Given the description of an element on the screen output the (x, y) to click on. 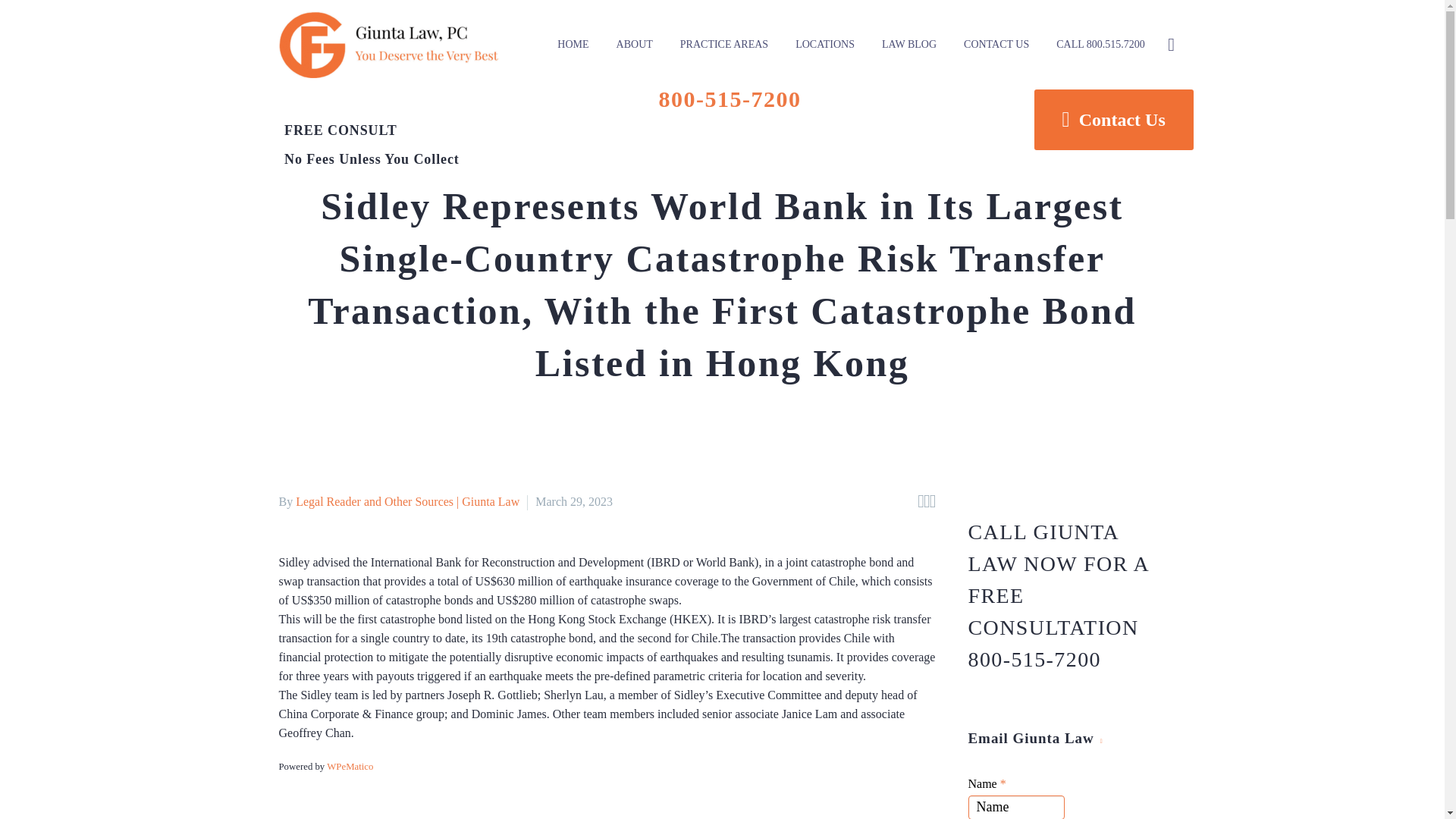
ABOUT (634, 44)
HOME (572, 44)
Name (1016, 807)
Practice Areas (723, 44)
LOCATIONS (825, 44)
PRACTICE AREAS (723, 44)
